Given the description of an element on the screen output the (x, y) to click on. 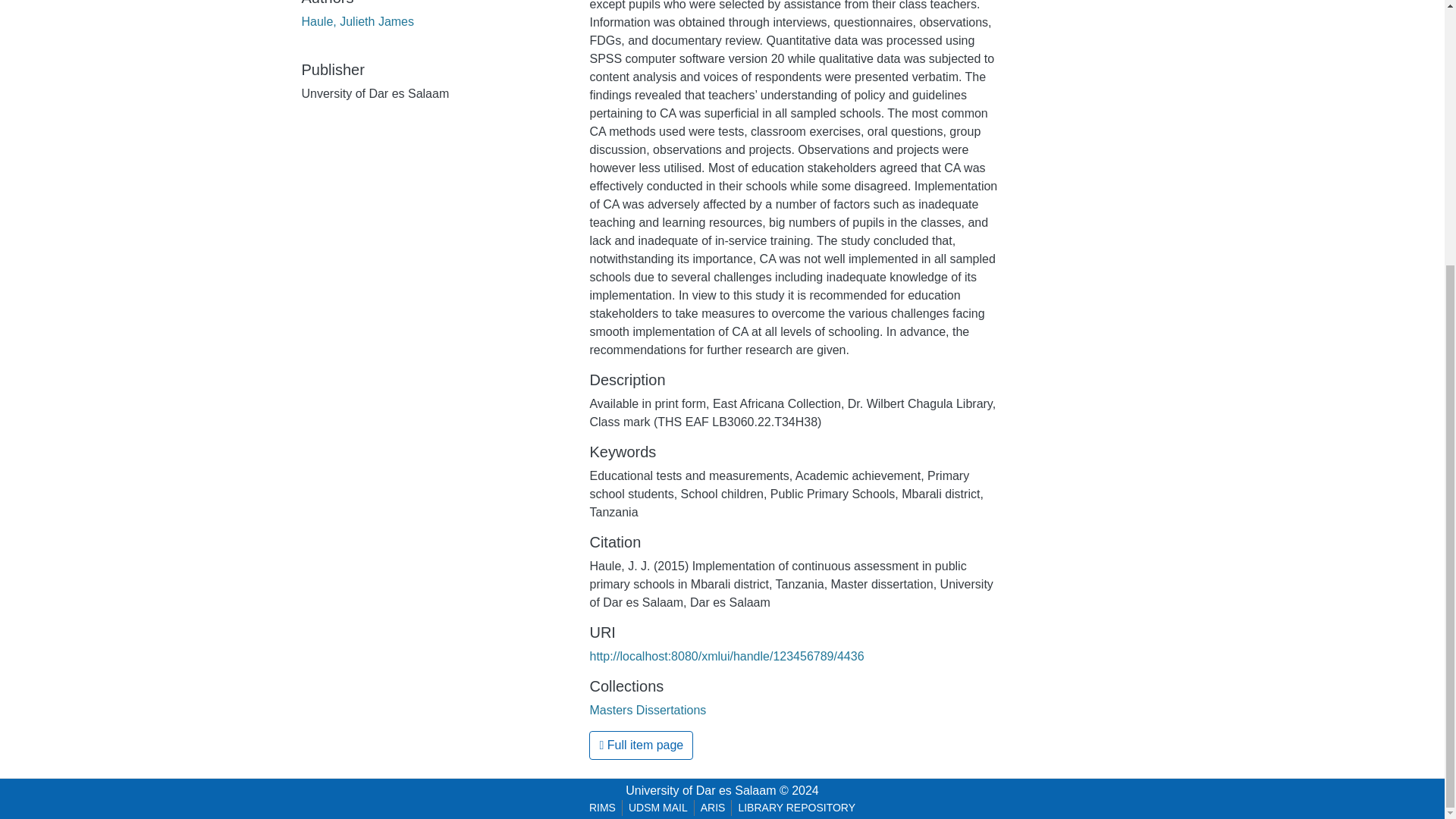
RIMS (602, 807)
UDSM MAIL (658, 807)
Haule, Julieth James (357, 21)
LIBRARY REPOSITORY (796, 807)
Masters Dissertations (647, 709)
ARIS (713, 807)
Full item page (641, 745)
